Given the description of an element on the screen output the (x, y) to click on. 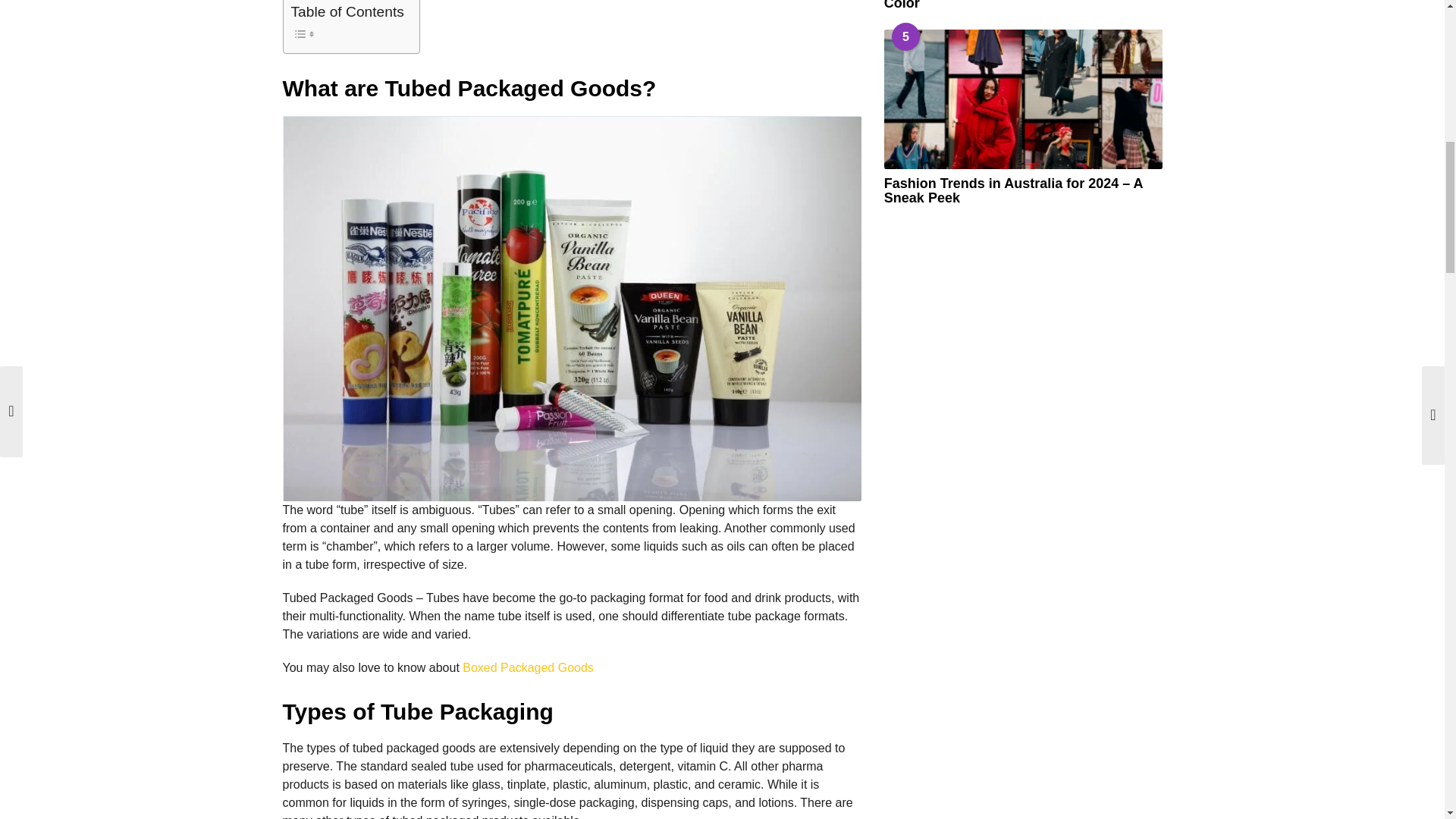
Boxed Packaged Goods (528, 667)
